Given the description of an element on the screen output the (x, y) to click on. 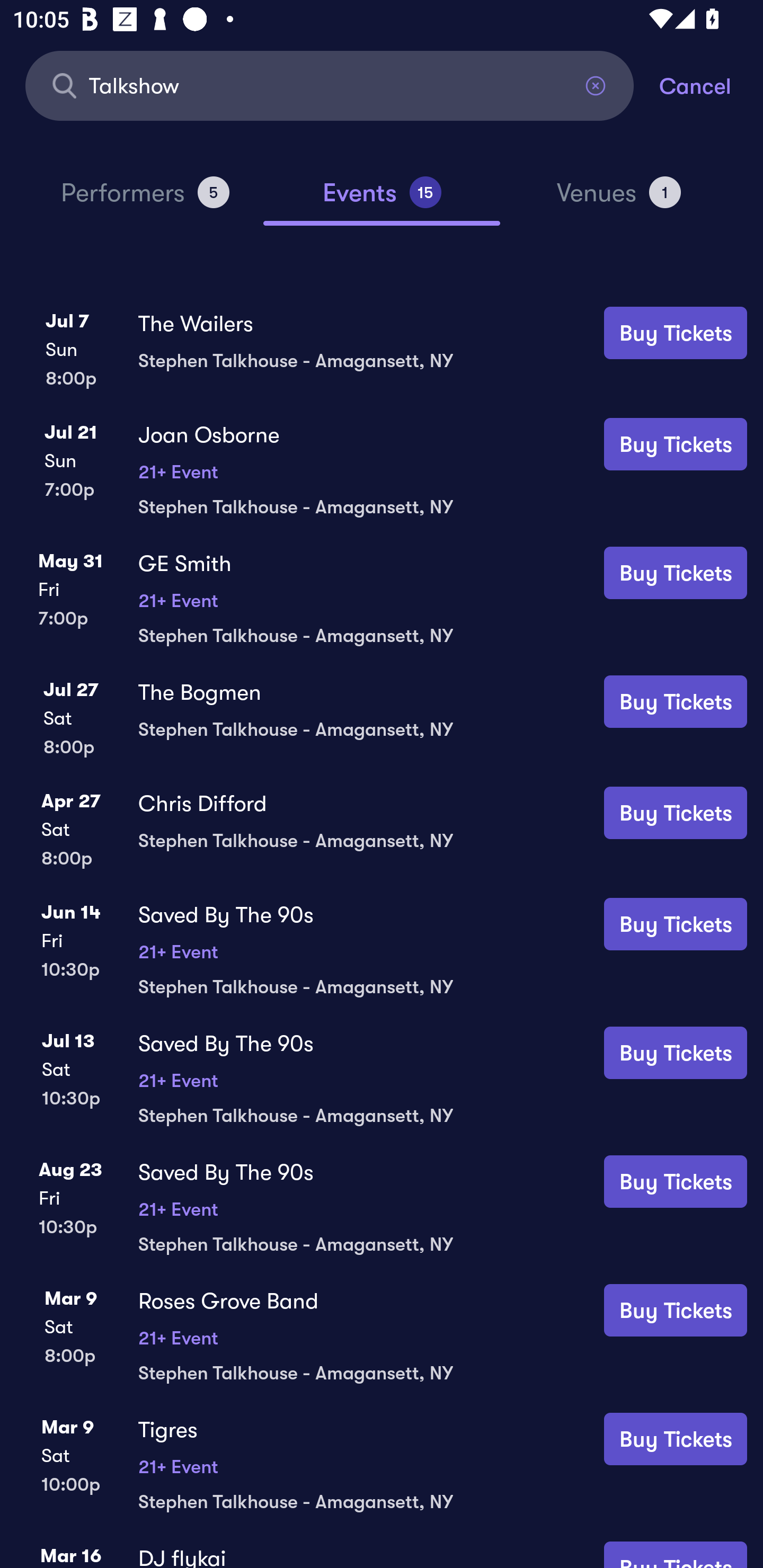
Talkshow Find (329, 85)
Talkshow Find (329, 85)
Cancel (711, 85)
Performers 5 (144, 200)
Events 15 (381, 200)
Venues 1 (618, 200)
